Given the description of an element on the screen output the (x, y) to click on. 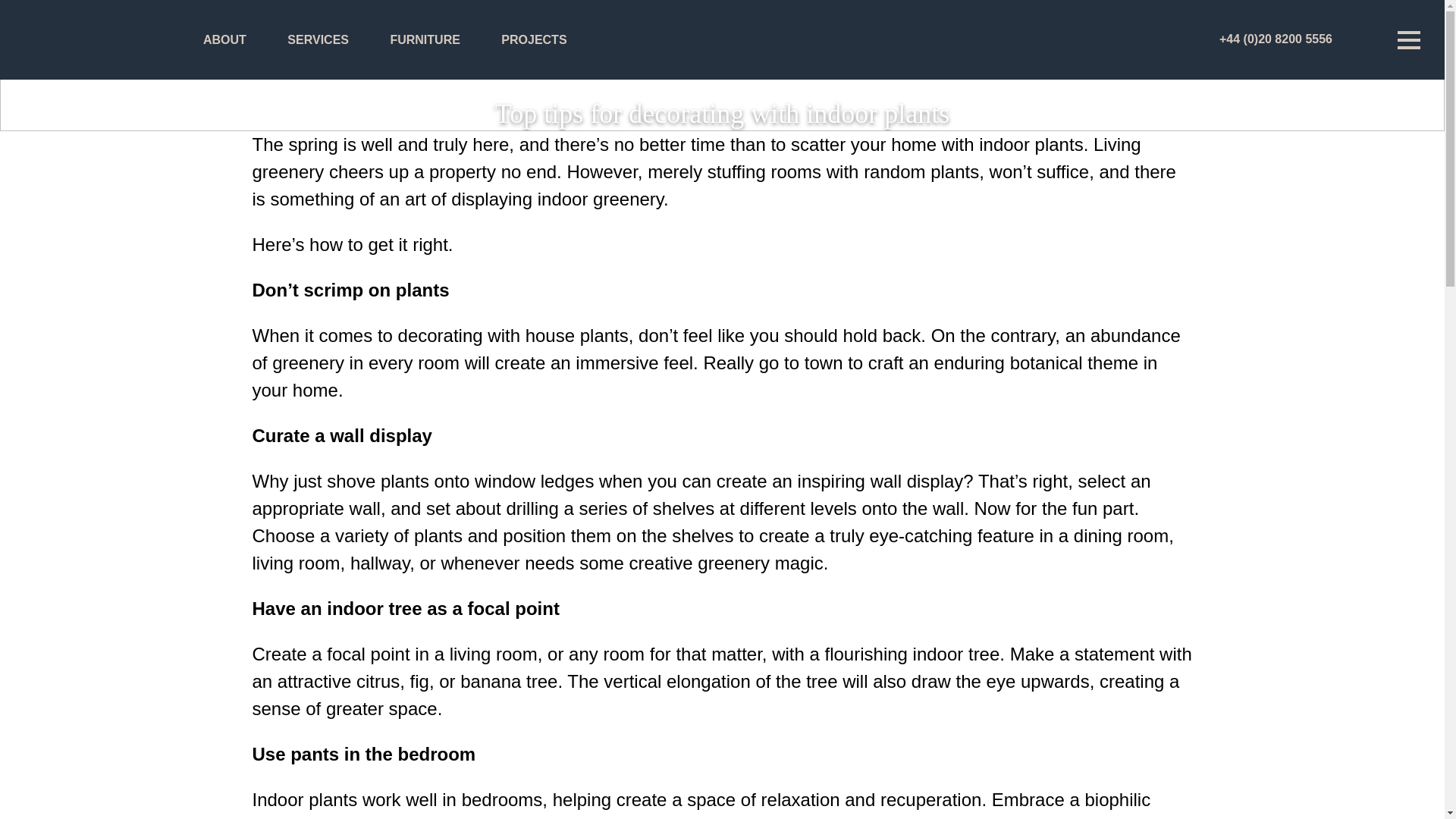
NEW-ID (79, 40)
FURNITURE (425, 39)
ABOUT (224, 39)
SERVICES (317, 39)
PROJECTS (533, 39)
